Given the description of an element on the screen output the (x, y) to click on. 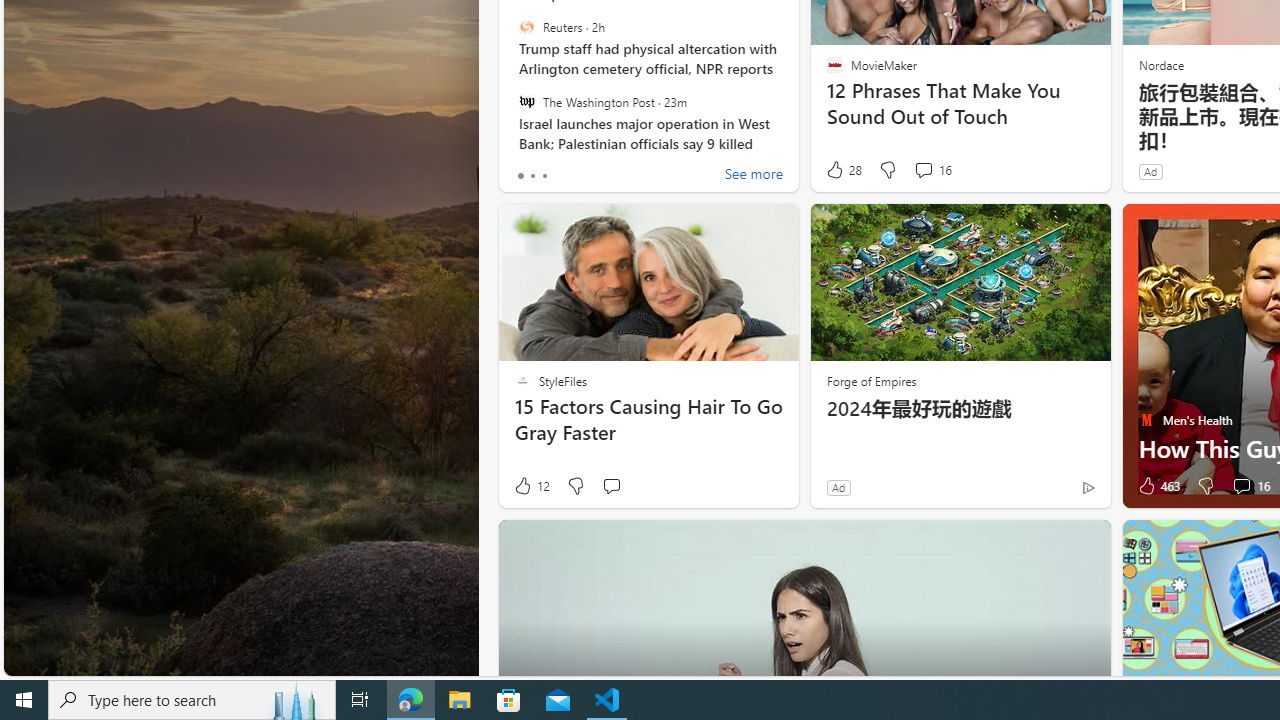
Reuters (526, 27)
The Washington Post (526, 101)
Start the conversation (610, 485)
tab-1 (532, 175)
tab-0 (520, 175)
See more (753, 175)
